Given the description of an element on the screen output the (x, y) to click on. 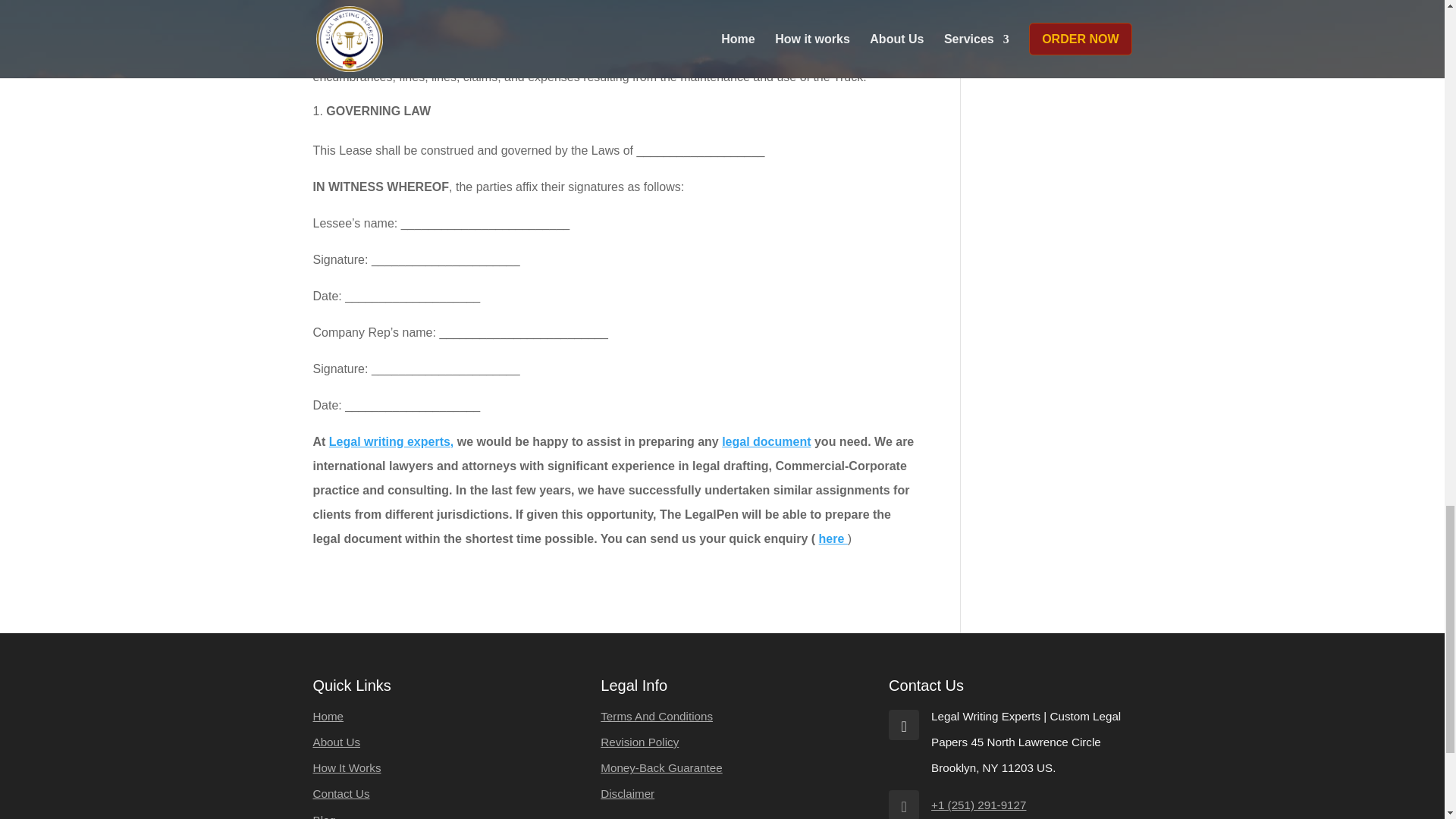
Terms And Conditions (656, 716)
legal document (766, 440)
Revision Policy (638, 741)
About Us (336, 741)
Money-Back Guarantee (660, 767)
here  (832, 538)
Legal writing experts, (390, 440)
Blog (323, 816)
Contact Us (341, 793)
How It Works (346, 767)
Disclaimer (626, 793)
Home (328, 716)
